Given the description of an element on the screen output the (x, y) to click on. 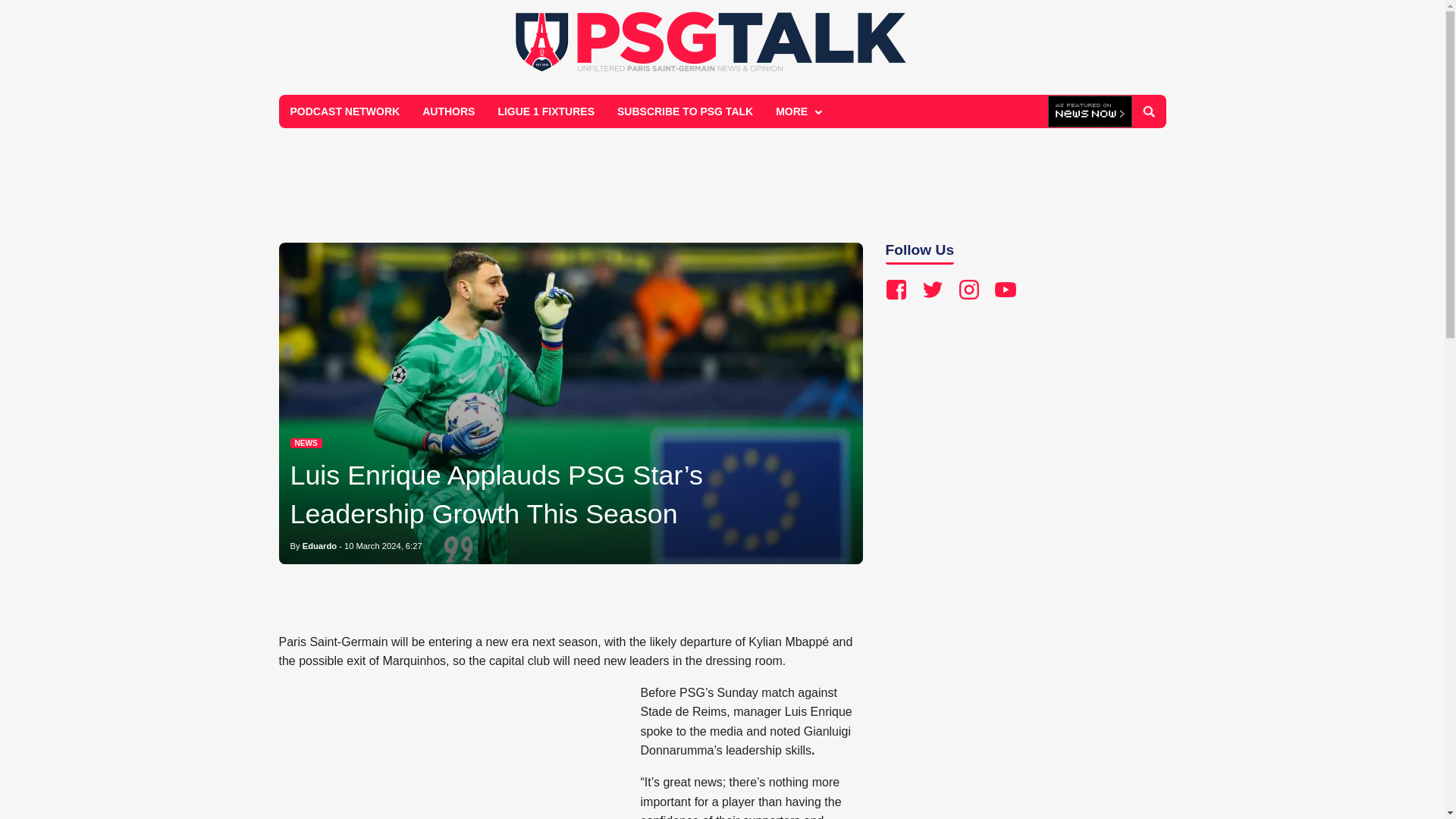
AUTHORS (448, 111)
10 March 2024, 6:27 (382, 545)
Latest News News (305, 442)
NEWS (305, 442)
LIGUE 1 FIXTURES (545, 111)
Click here for more PSG news from NewsNow (1090, 111)
PODCAST NETWORK (345, 111)
Eduardo (319, 545)
Search (1147, 111)
MORE (796, 111)
